Given the description of an element on the screen output the (x, y) to click on. 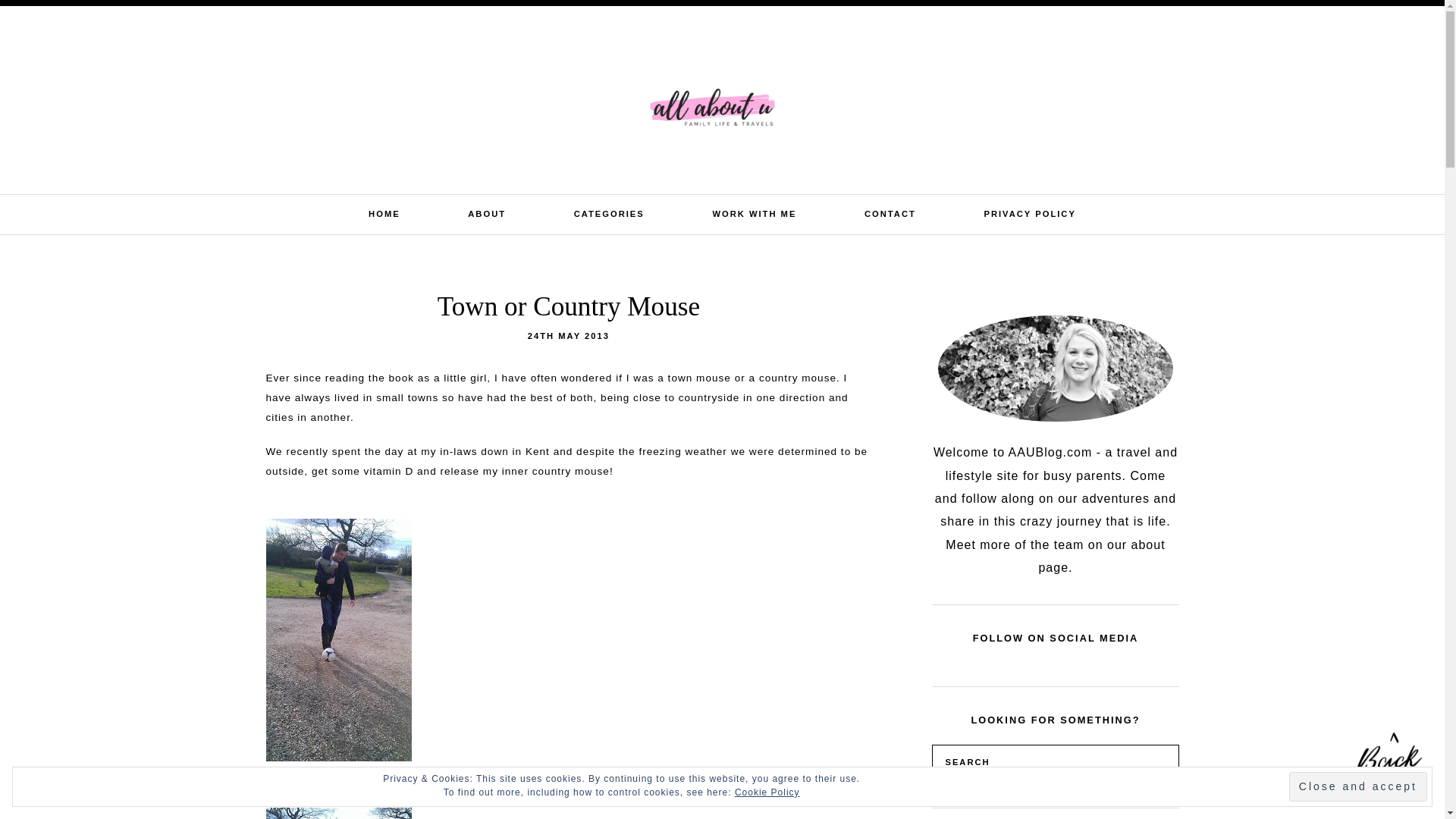
PRIVACY POLICY (1029, 214)
CATEGORIES (609, 214)
CONTACT (889, 214)
ABOUT (486, 214)
Search for: (1319, 23)
WORK WITH ME (753, 214)
Close and accept (1357, 786)
